Given the description of an element on the screen output the (x, y) to click on. 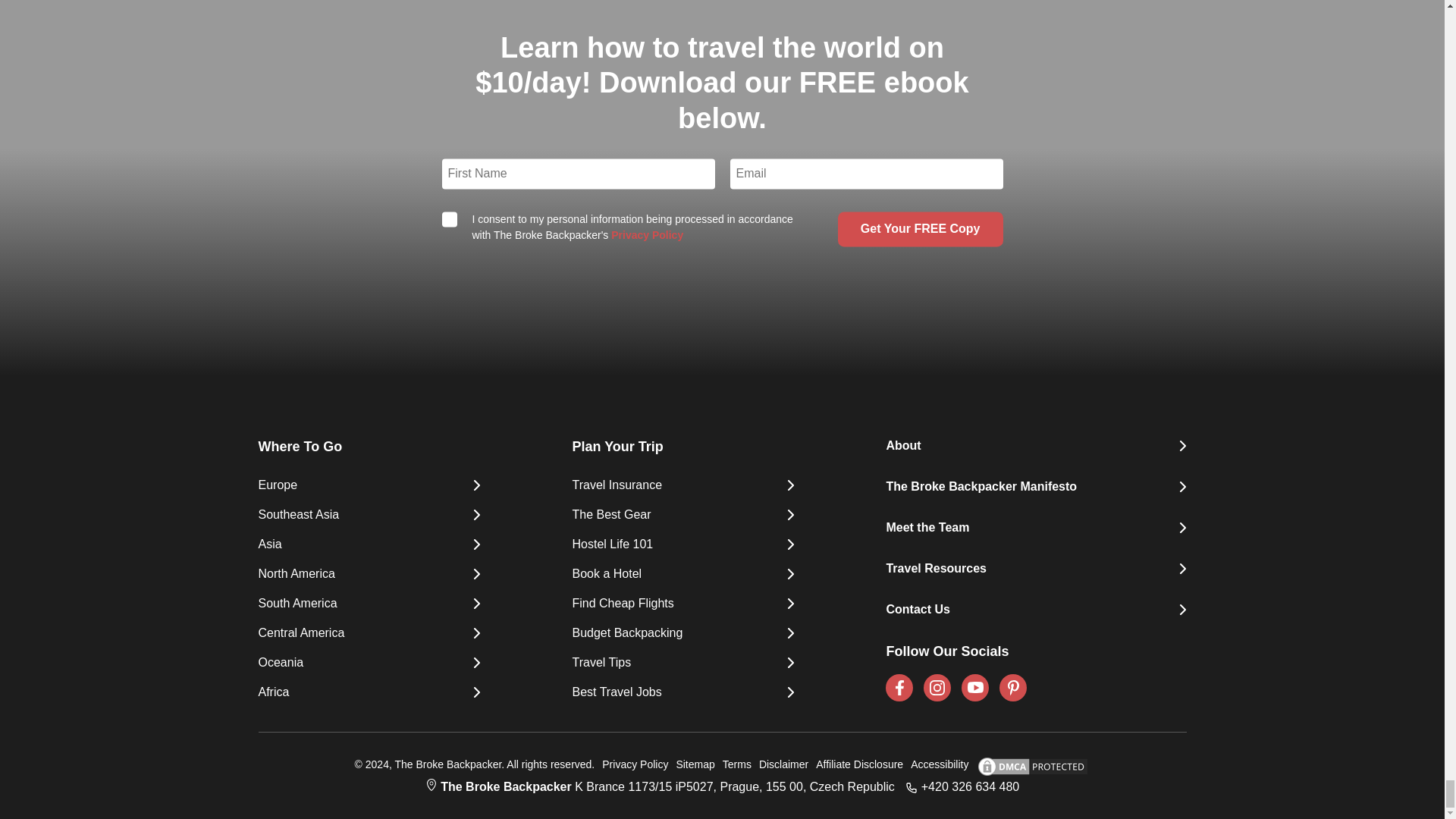
1 (449, 219)
DMCA.com Protection Status (1028, 766)
